Given the description of an element on the screen output the (x, y) to click on. 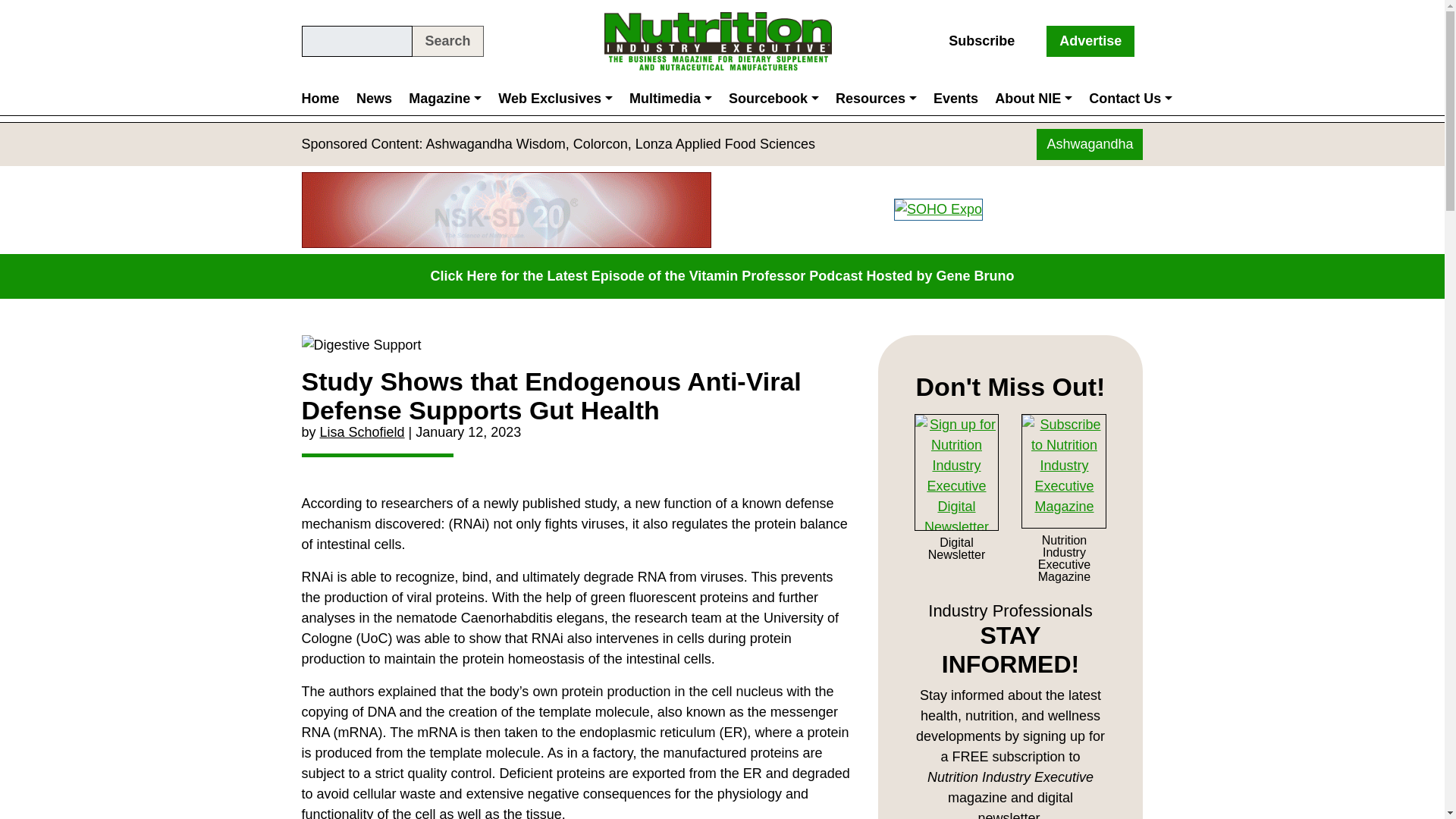
Multimedia (670, 98)
Home (324, 98)
Contact Us (1130, 98)
Web Exclusives (555, 98)
Search (447, 40)
Events (955, 98)
Resources (875, 98)
Sourcebook (773, 98)
News (373, 98)
Home (324, 98)
Magazine (444, 98)
Multimedia (670, 98)
About NIE (1033, 98)
Resources (875, 98)
Subscribe (982, 40)
